Given the description of an element on the screen output the (x, y) to click on. 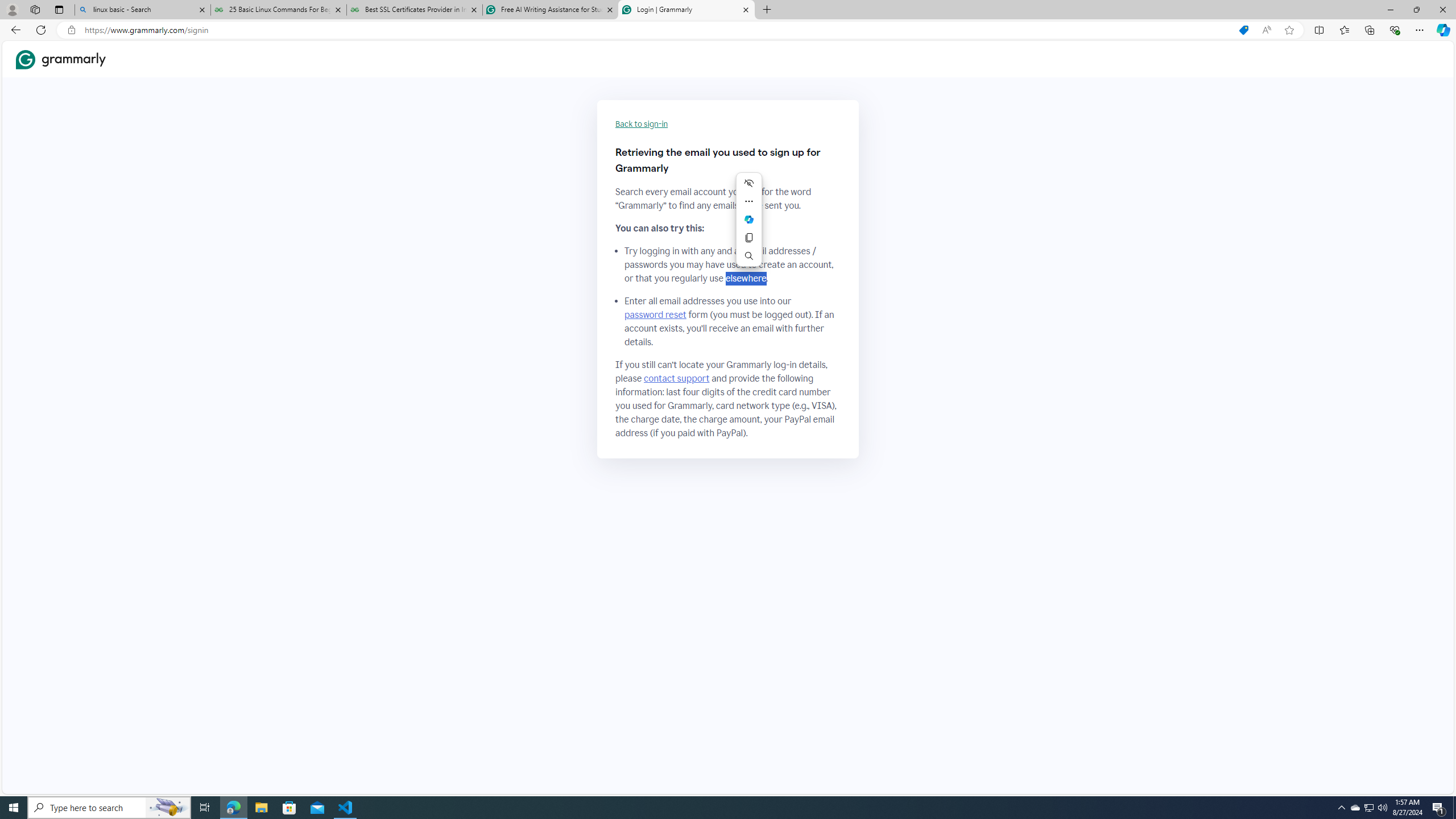
Back to sign-in (641, 124)
Grammarly Home (61, 59)
Copy (748, 237)
contact support (676, 378)
Ask Copilot (748, 219)
